Given the description of an element on the screen output the (x, y) to click on. 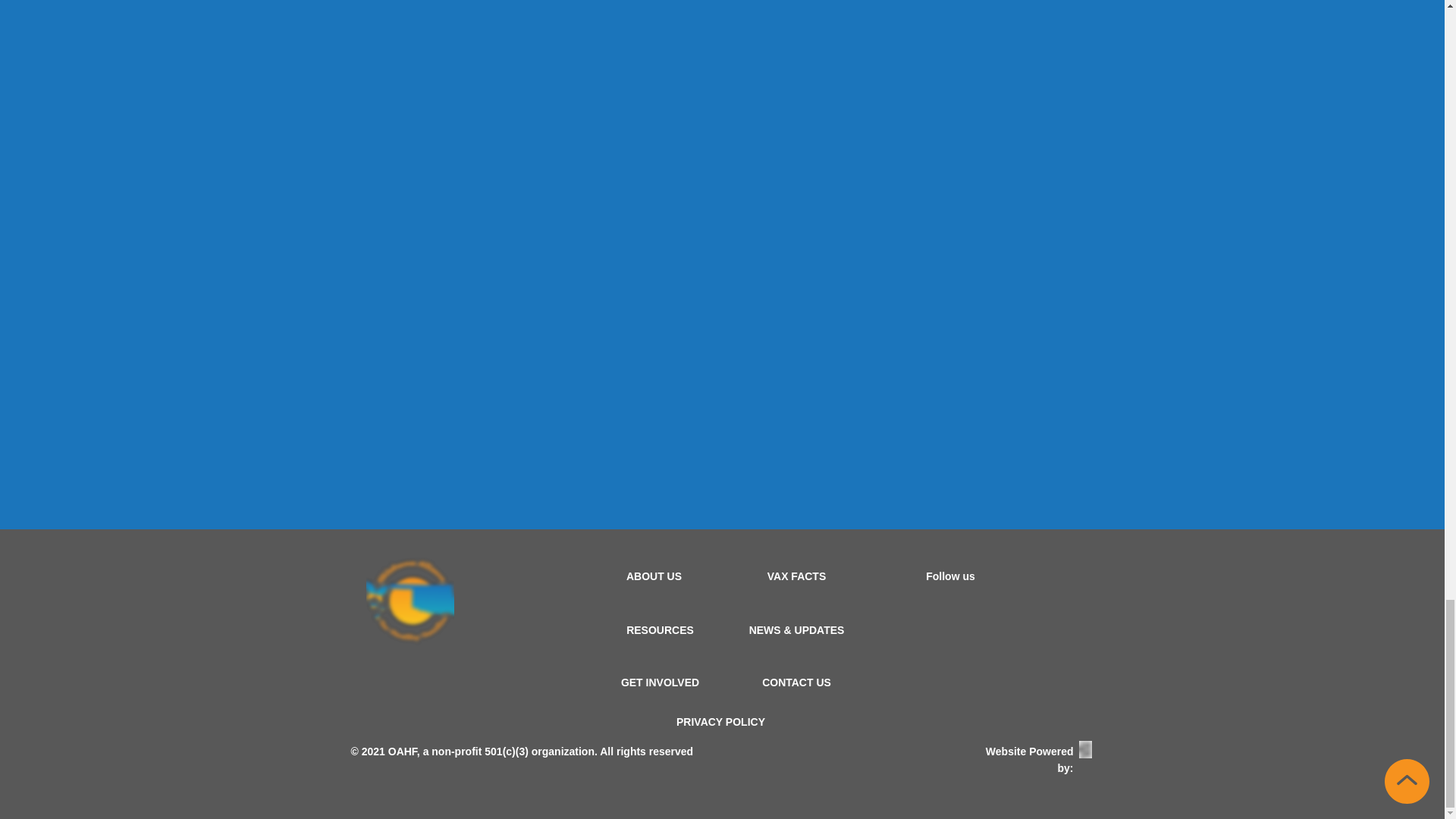
CONTACT US (796, 682)
RESOURCES (660, 630)
GET INVOLVED (659, 682)
VAX FACTS (797, 576)
ABOUT US (653, 576)
